Given the description of an element on the screen output the (x, y) to click on. 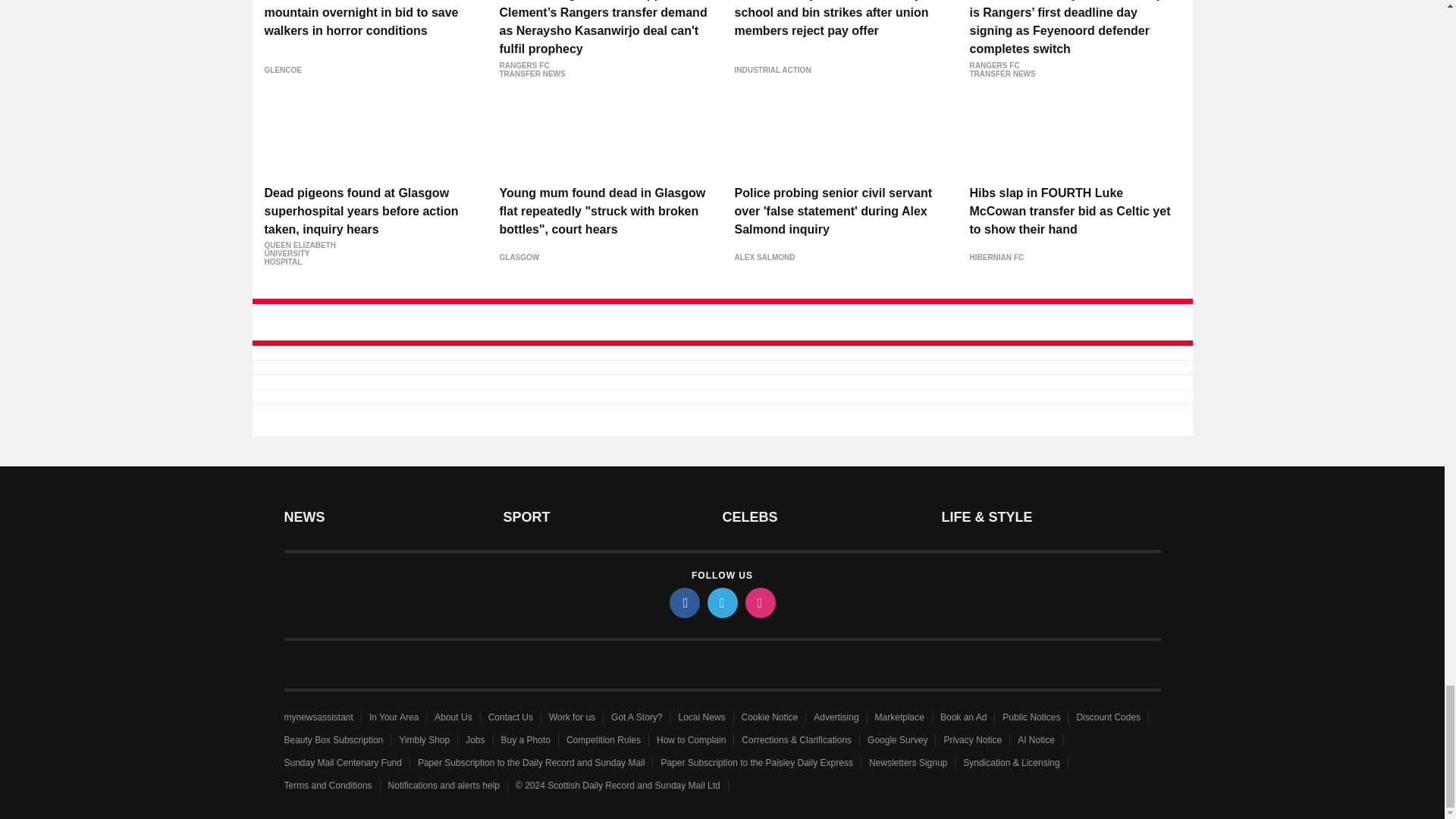
facebook (683, 603)
twitter (721, 603)
instagram (759, 603)
